Given the description of an element on the screen output the (x, y) to click on. 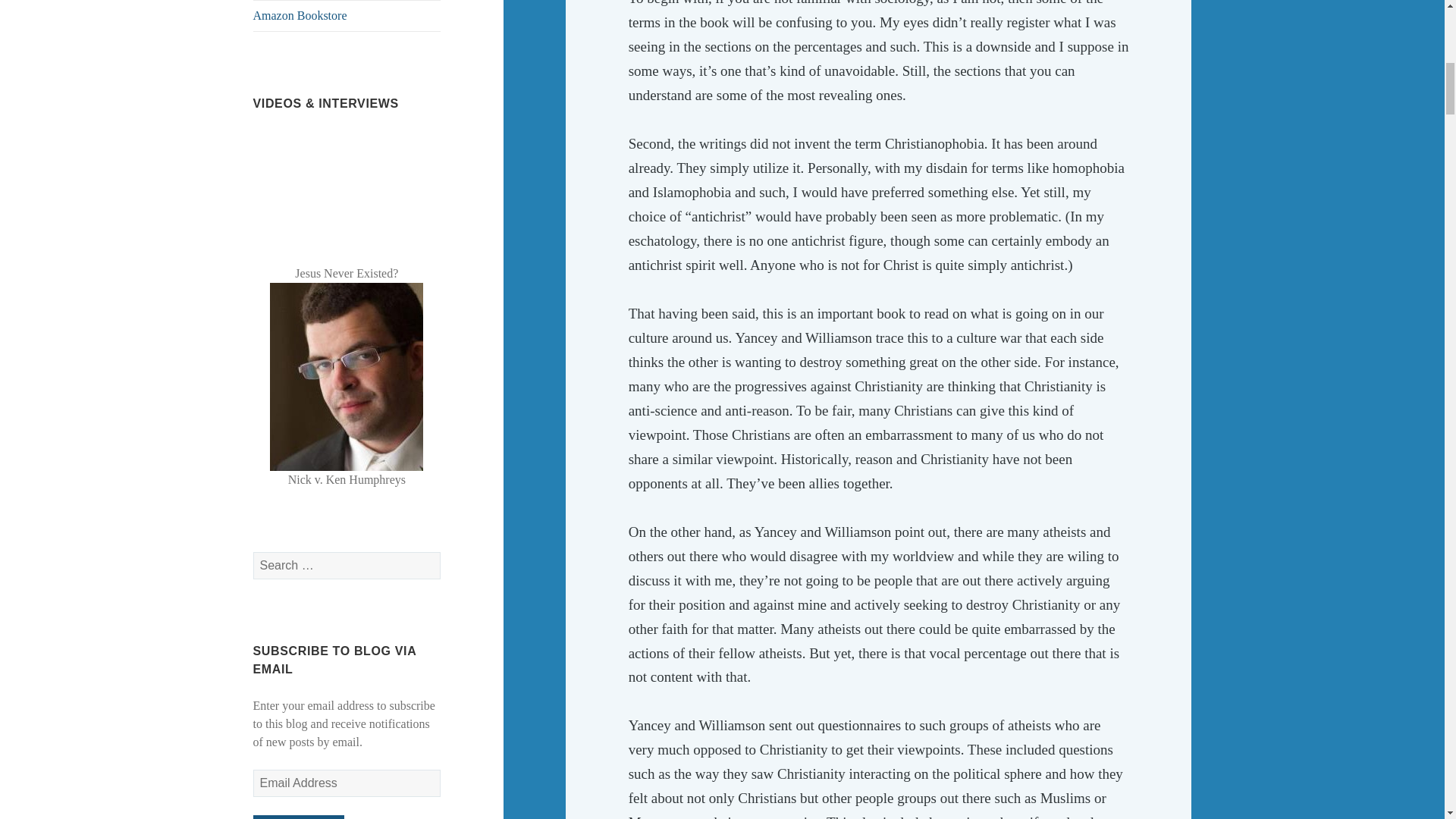
SUBSCRIBE (299, 816)
Amazon Bookstore (347, 15)
